Given the description of an element on the screen output the (x, y) to click on. 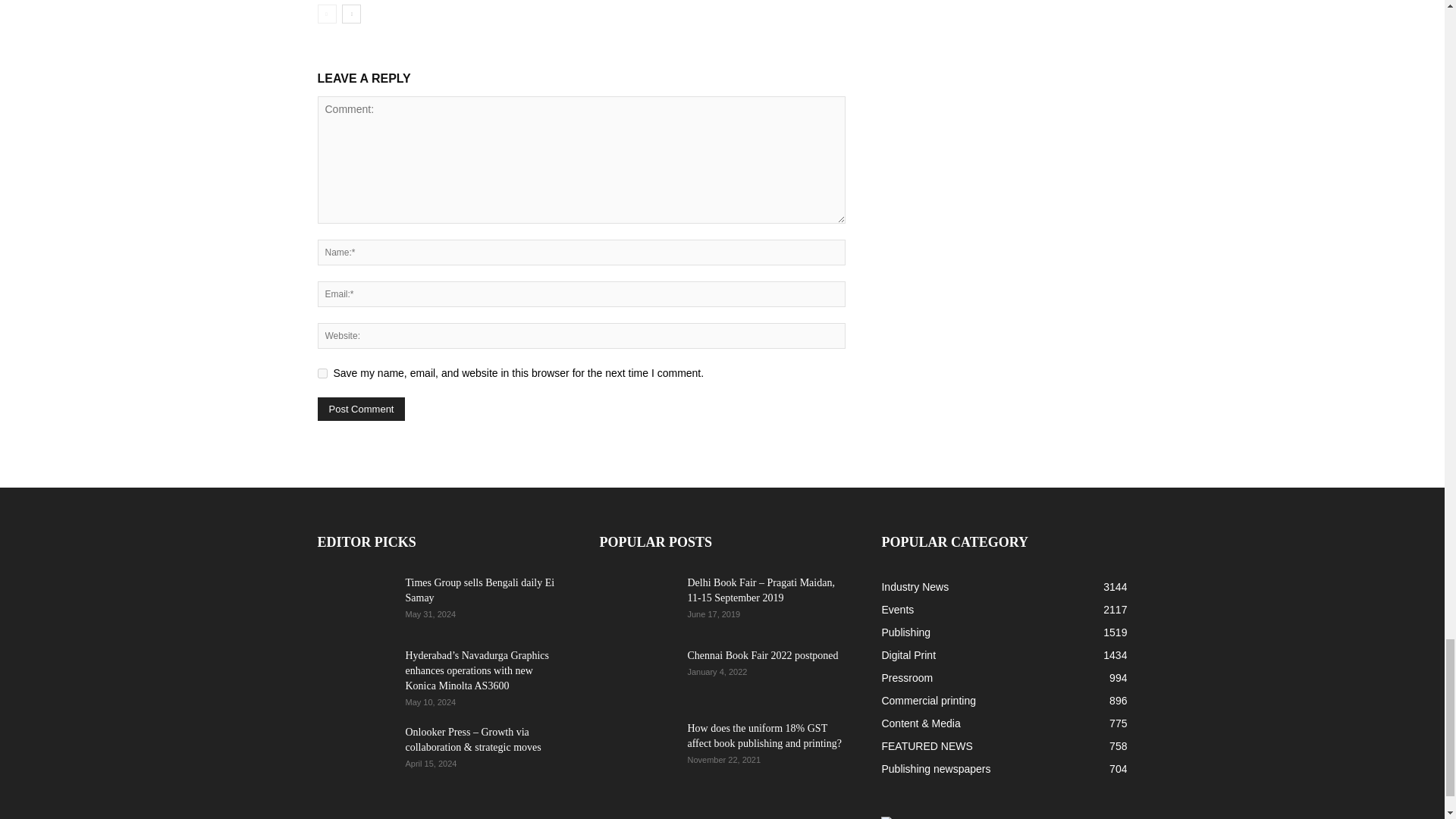
Post Comment (360, 408)
yes (321, 373)
